Given the description of an element on the screen output the (x, y) to click on. 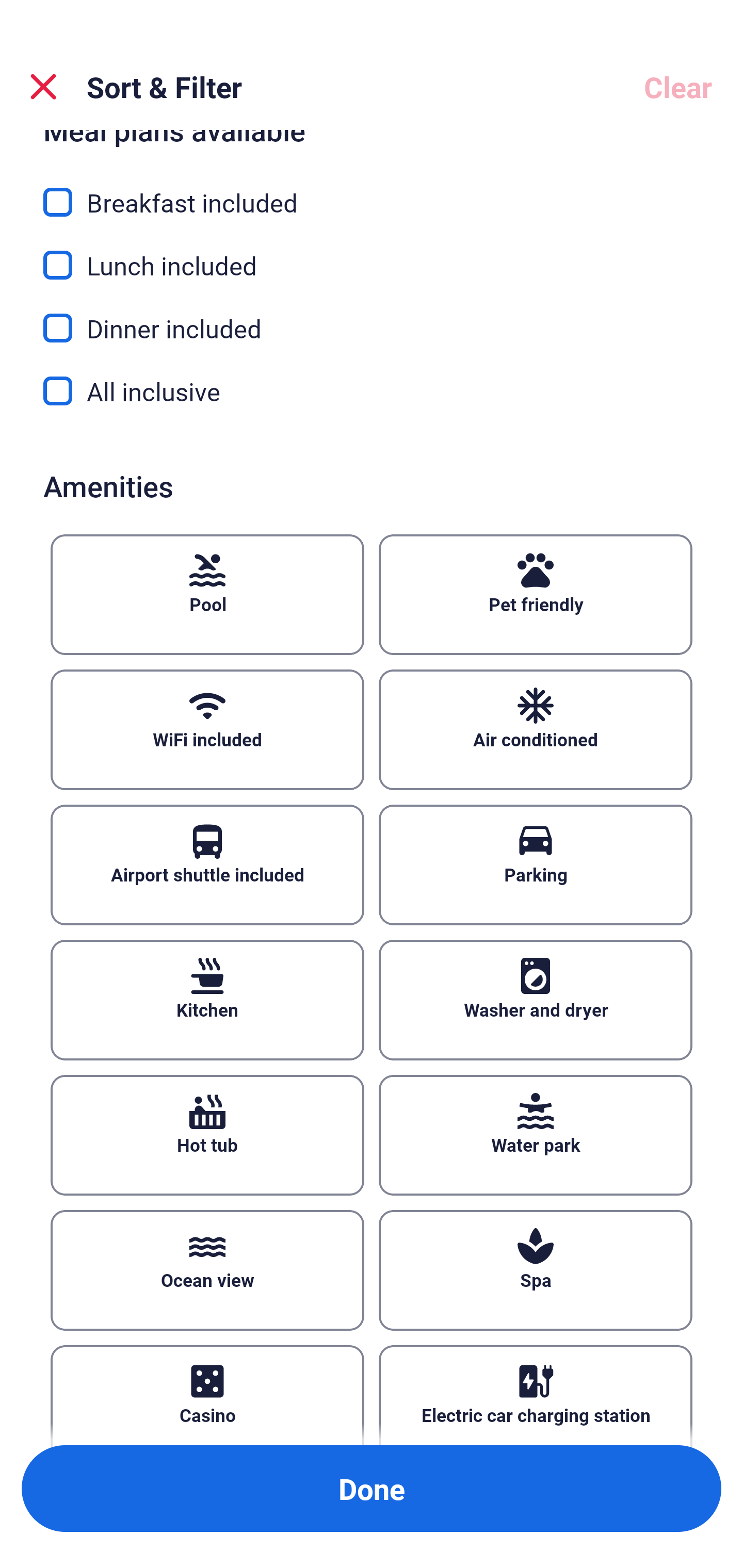
Close Sort and Filter (43, 86)
Clear (677, 86)
Breakfast included, Breakfast included (371, 190)
Lunch included, Lunch included (371, 253)
Dinner included, Dinner included (371, 316)
All inclusive, All inclusive (371, 391)
Pool (207, 594)
Pet friendly (535, 594)
WiFi included (207, 729)
Air conditioned (535, 729)
Airport shuttle included (207, 864)
Parking (535, 864)
Kitchen (207, 999)
Washer and dryer (535, 999)
Hot tub (207, 1134)
Water park (535, 1134)
Ocean view (207, 1270)
Spa (535, 1270)
Casino (207, 1395)
Electric car charging station (535, 1395)
Apply and close Sort and Filter Done (371, 1488)
